Given the description of an element on the screen output the (x, y) to click on. 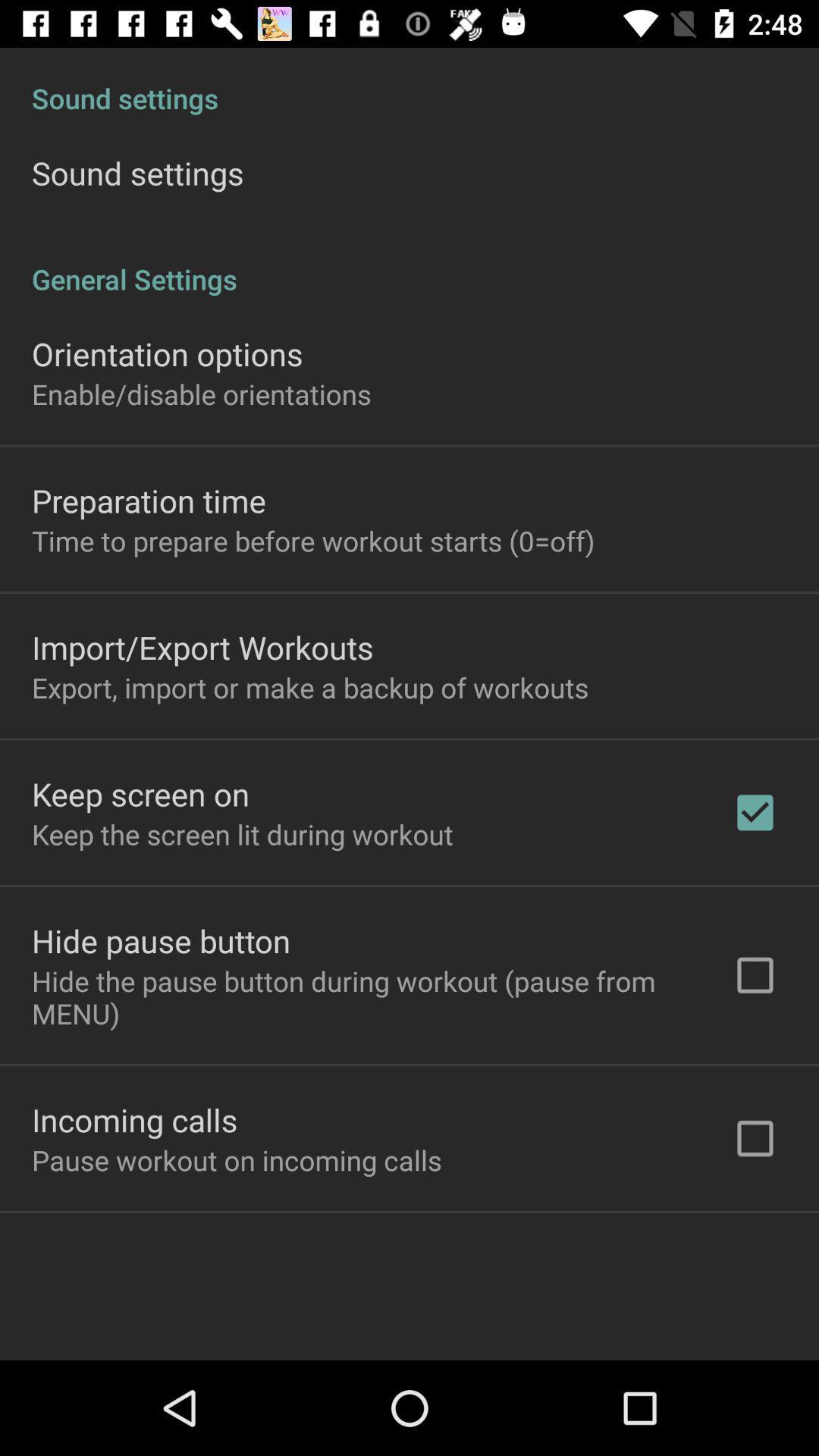
flip to general settings icon (409, 263)
